Given the description of an element on the screen output the (x, y) to click on. 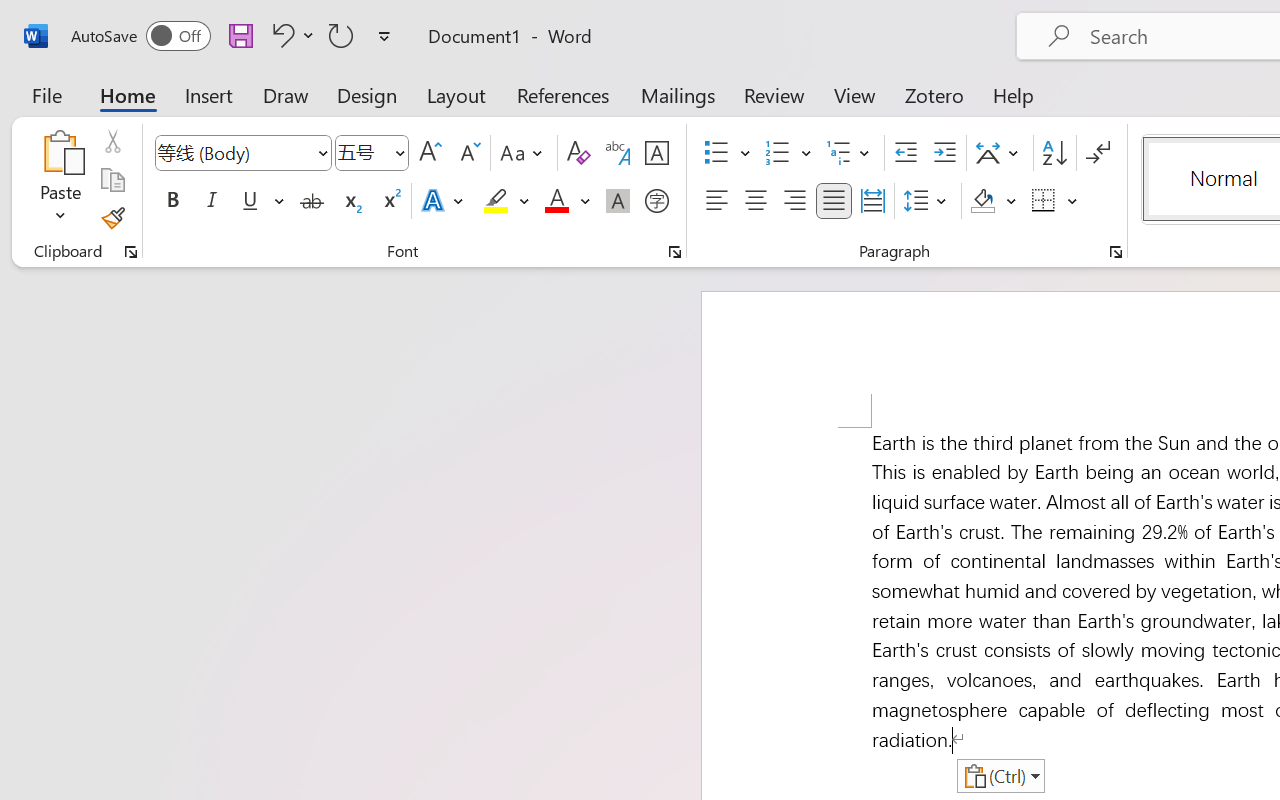
Italic (212, 201)
Enclose Characters... (656, 201)
Change Case (524, 153)
Character Border (656, 153)
Character Shading (618, 201)
Align Left (716, 201)
Superscript (390, 201)
Help (1013, 94)
Repeat Paste Option (341, 35)
